Given the description of an element on the screen output the (x, y) to click on. 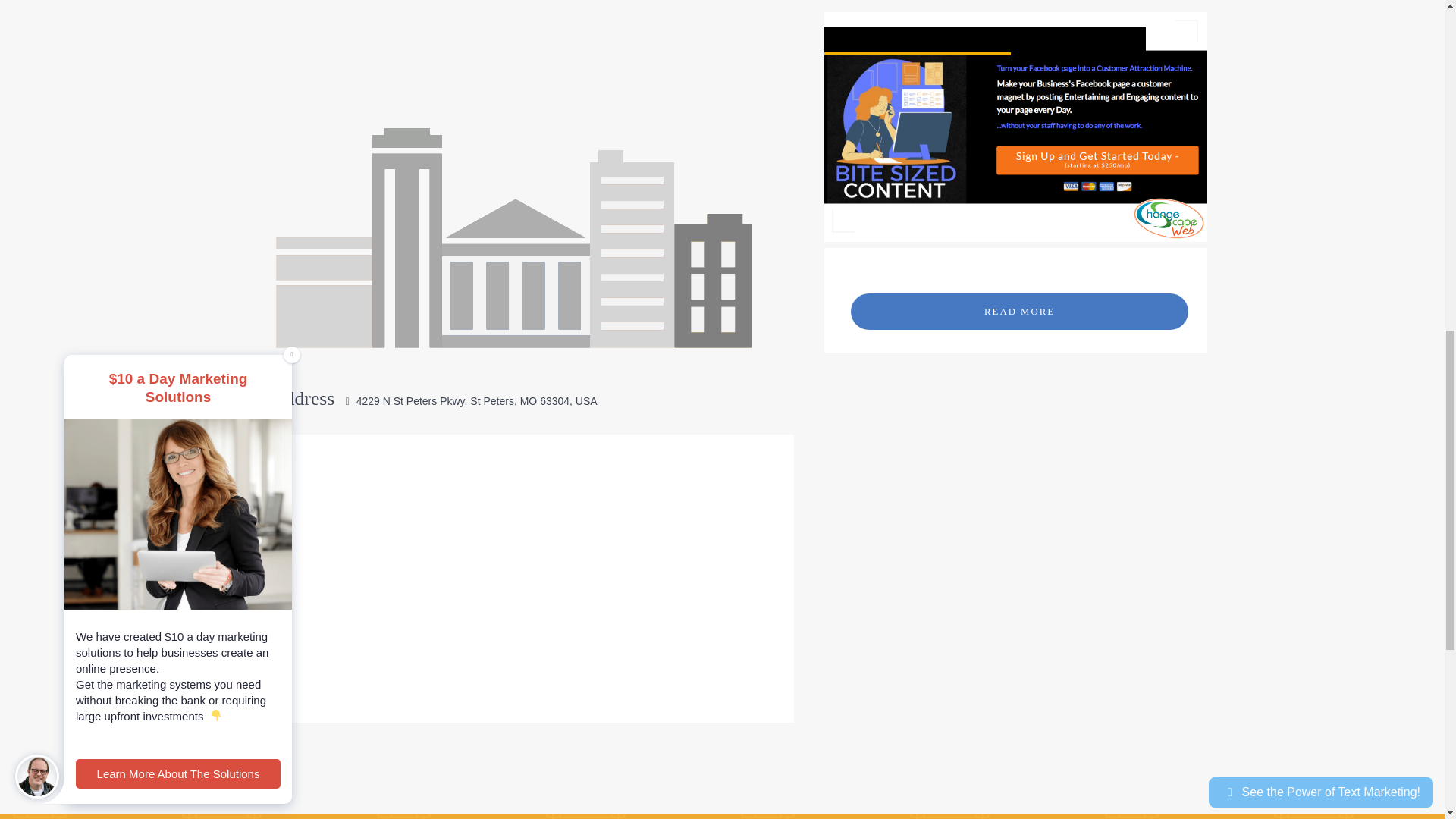
READ MORE (1019, 311)
Changescape Web Social Media (1016, 126)
